Given the description of an element on the screen output the (x, y) to click on. 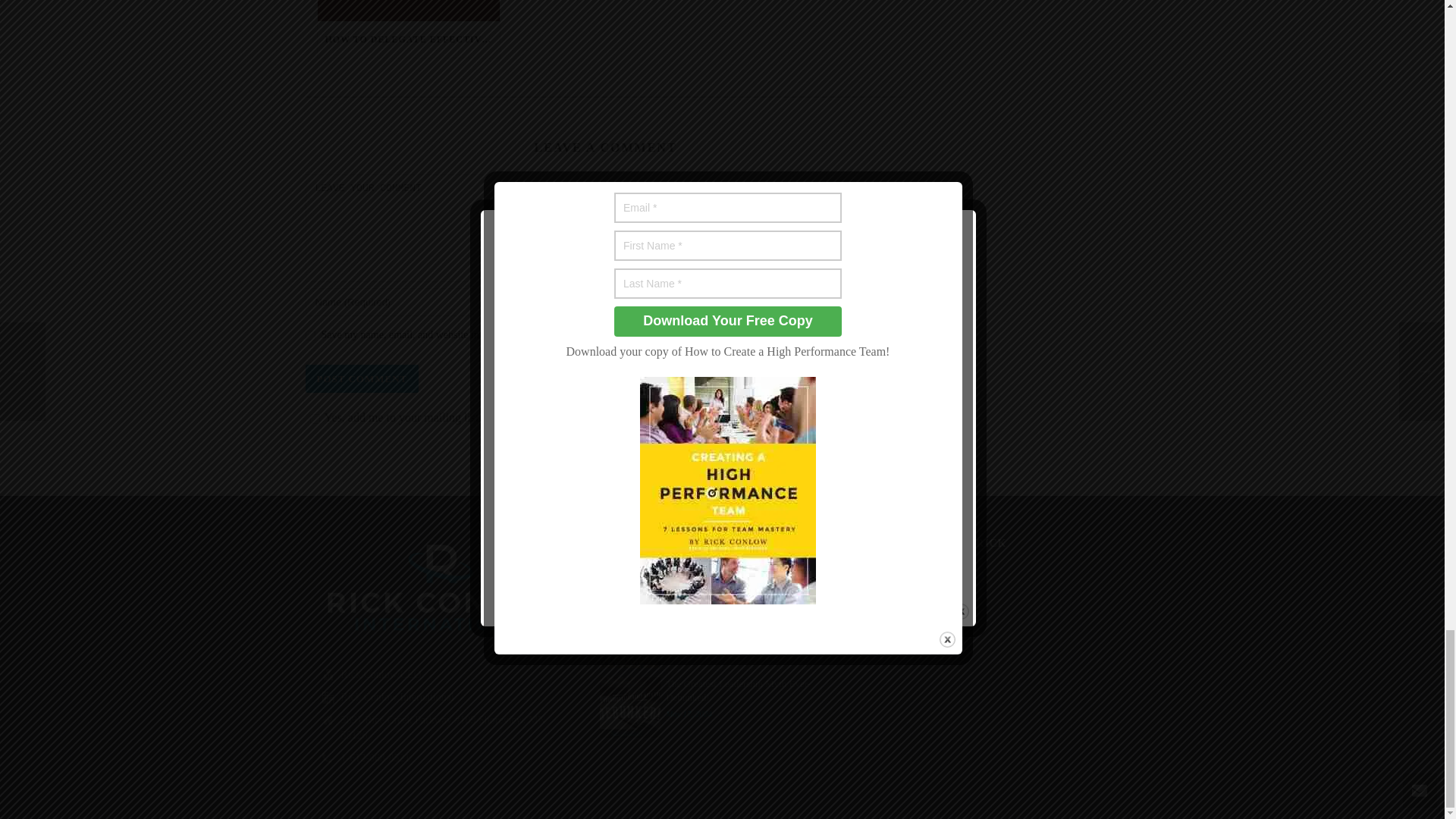
How to Delegate Effectively: 5 Key Steps for Success (408, 10)
POST COMMENT (361, 378)
yes (309, 335)
1 (313, 419)
